Given the description of an element on the screen output the (x, y) to click on. 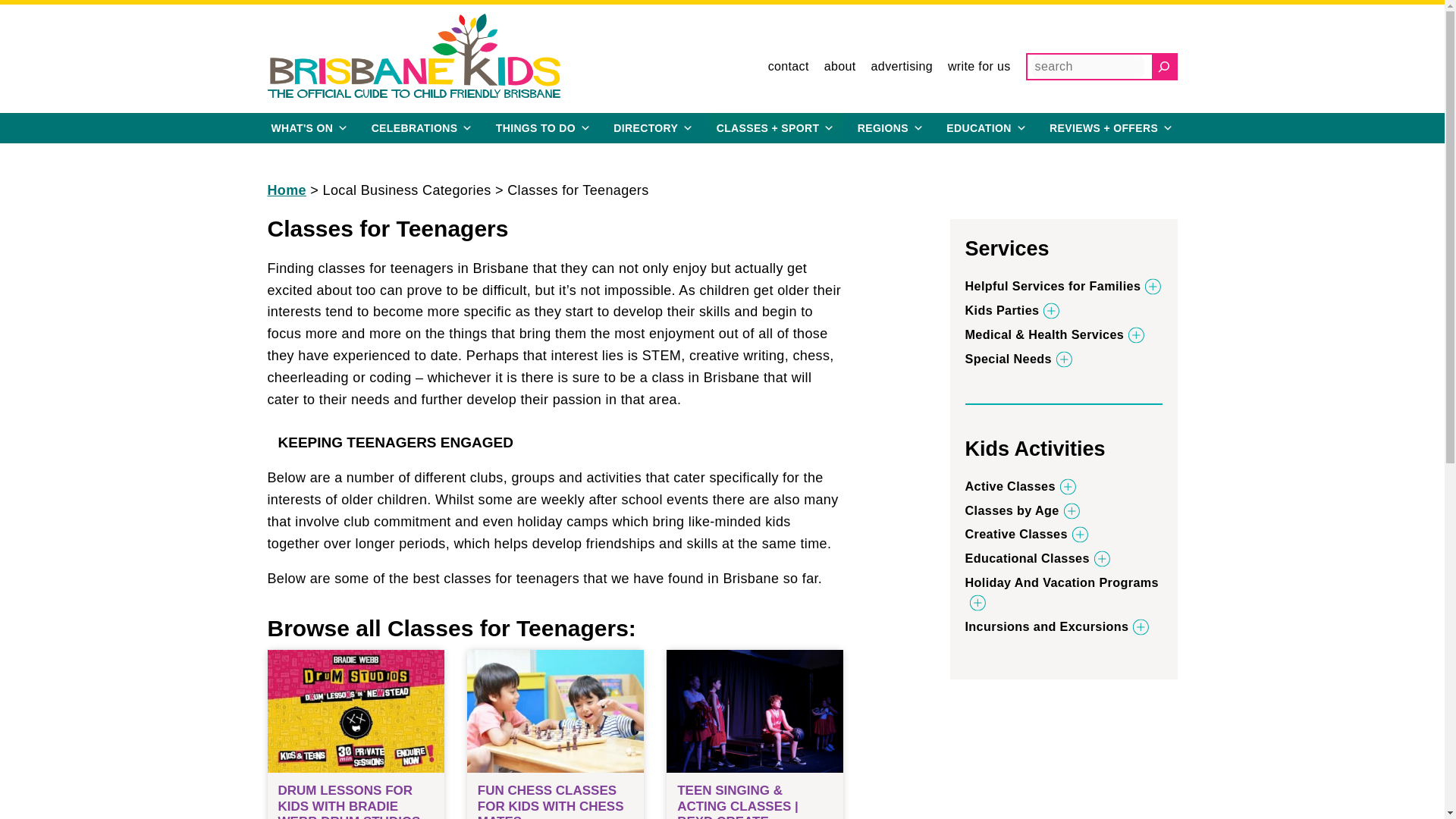
contact (788, 66)
kids activities brisbane (776, 128)
write for us (978, 66)
CELEBRATIONS (422, 128)
THINGS TO DO (542, 128)
WHAT'S ON (309, 128)
about (840, 66)
advertising (901, 66)
